Given the description of an element on the screen output the (x, y) to click on. 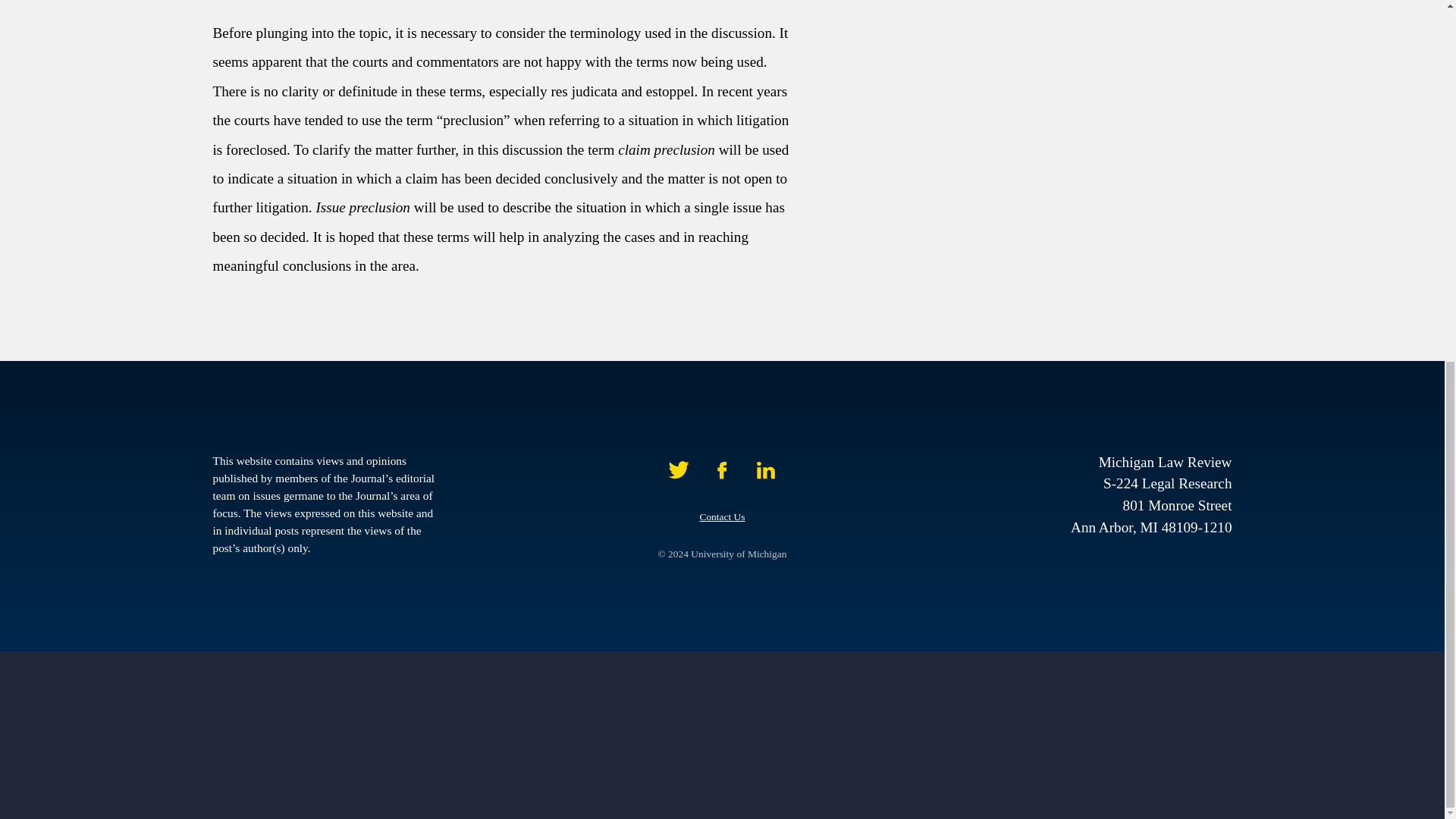
Contact Us (721, 516)
